Given the description of an element on the screen output the (x, y) to click on. 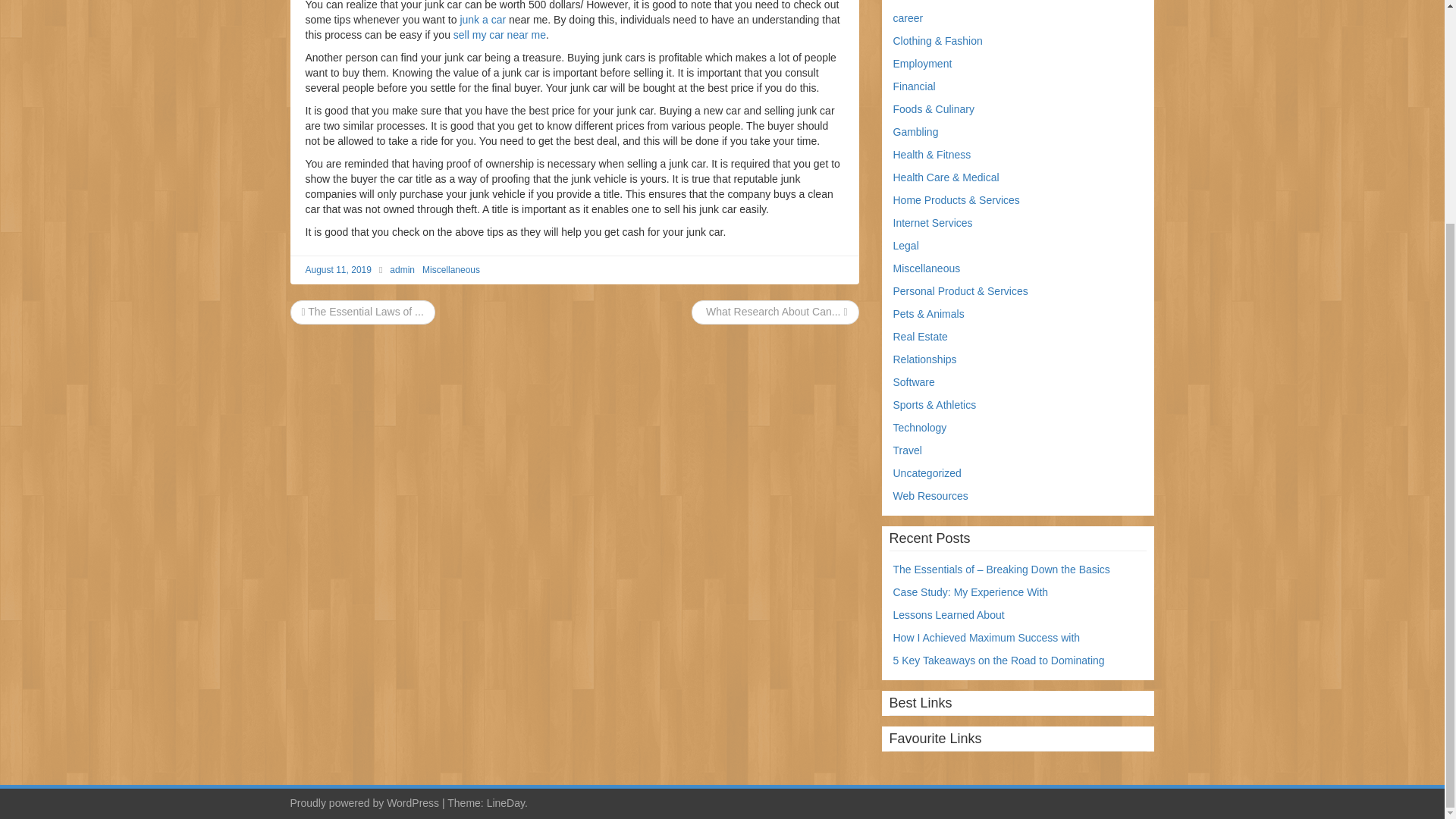
Software (913, 381)
 The Essential Laws of ... (362, 311)
Employment (922, 63)
sell my car near me (499, 34)
junk a car (482, 19)
Gambling (916, 132)
Relationships (924, 358)
Travel (907, 450)
Miscellaneous (451, 269)
Uncategorized (926, 472)
